Given the description of an element on the screen output the (x, y) to click on. 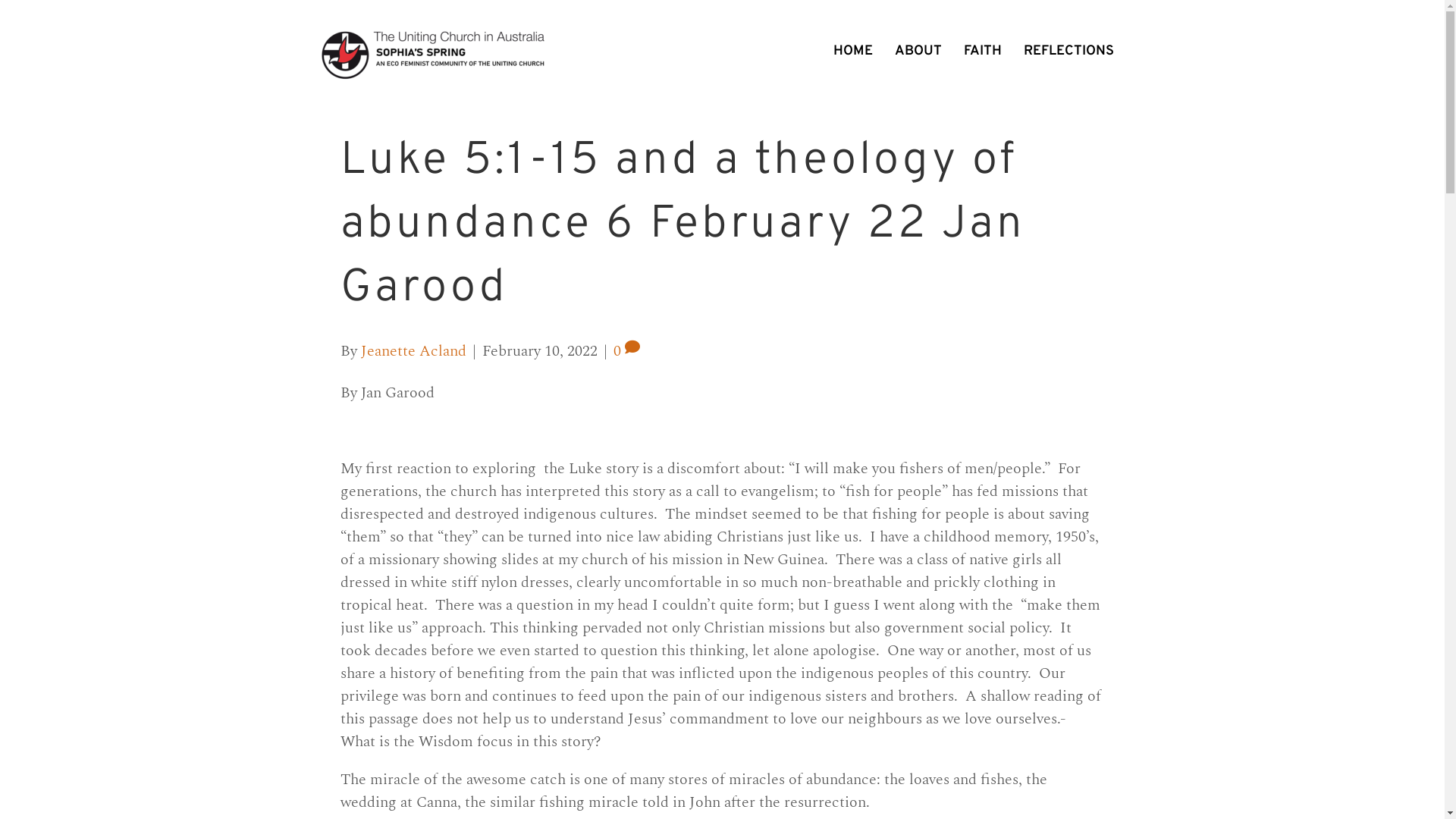
UCA-Inner-City-Logo Element type: hover (433, 55)
Jeanette Acland Element type: text (413, 350)
ABOUT Element type: text (918, 51)
FAITH Element type: text (981, 51)
REFLECTIONS Element type: text (1068, 51)
0 Element type: text (625, 350)
HOME Element type: text (852, 51)
